Given the description of an element on the screen output the (x, y) to click on. 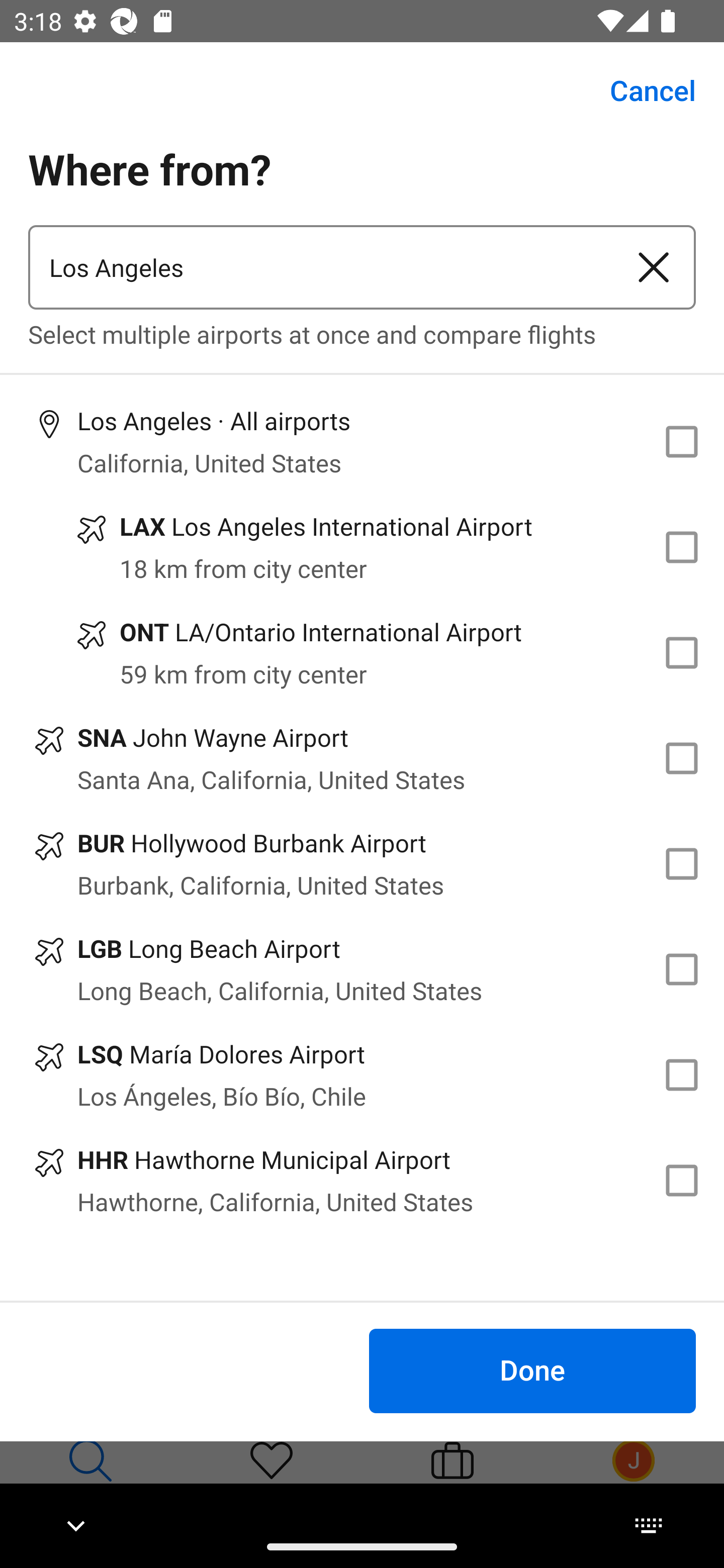
Cancel (641, 90)
Los Angeles (319, 266)
Clear airport or city (653, 266)
Done (532, 1370)
